Given the description of an element on the screen output the (x, y) to click on. 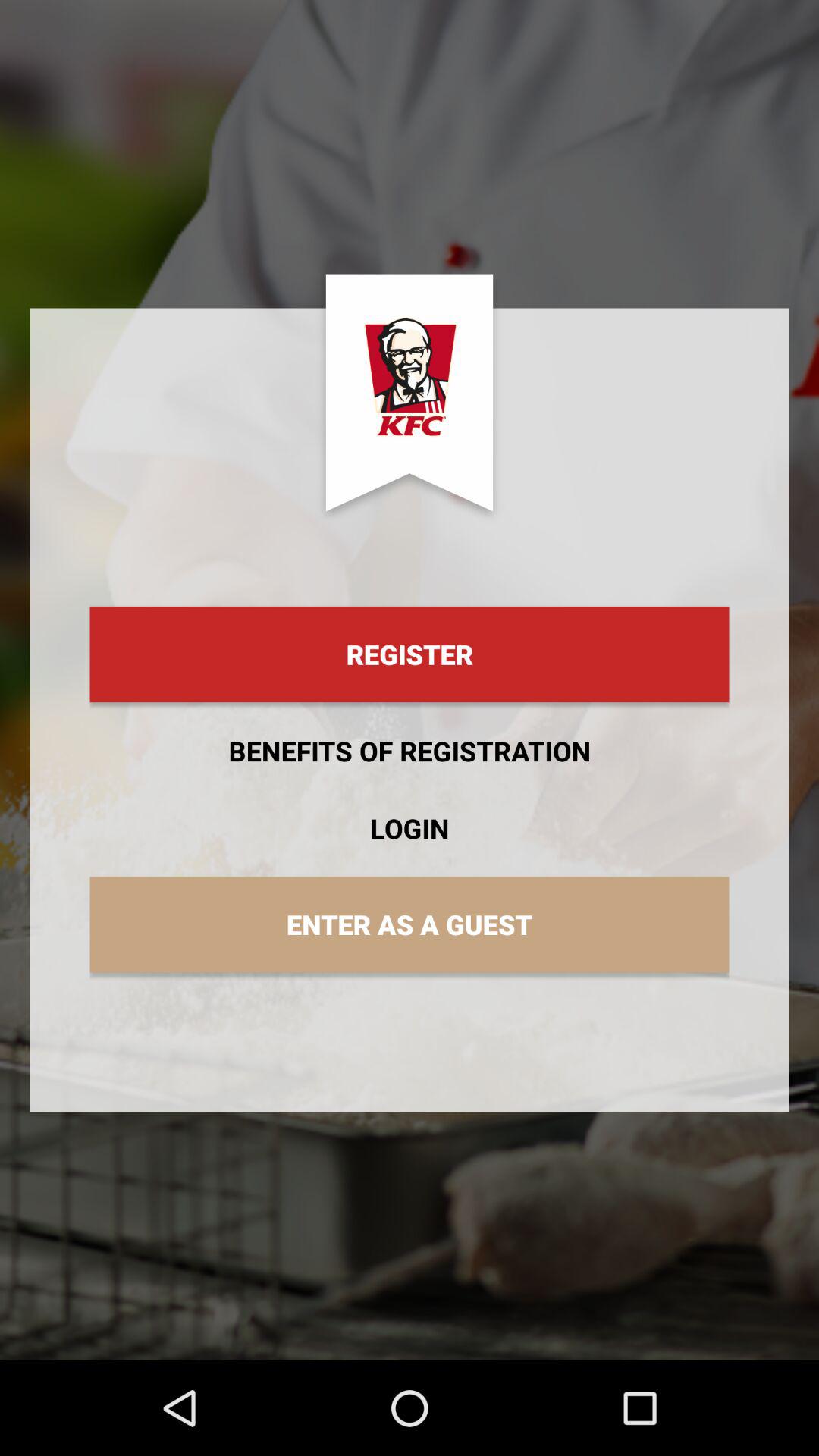
jump to login app (409, 828)
